Given the description of an element on the screen output the (x, y) to click on. 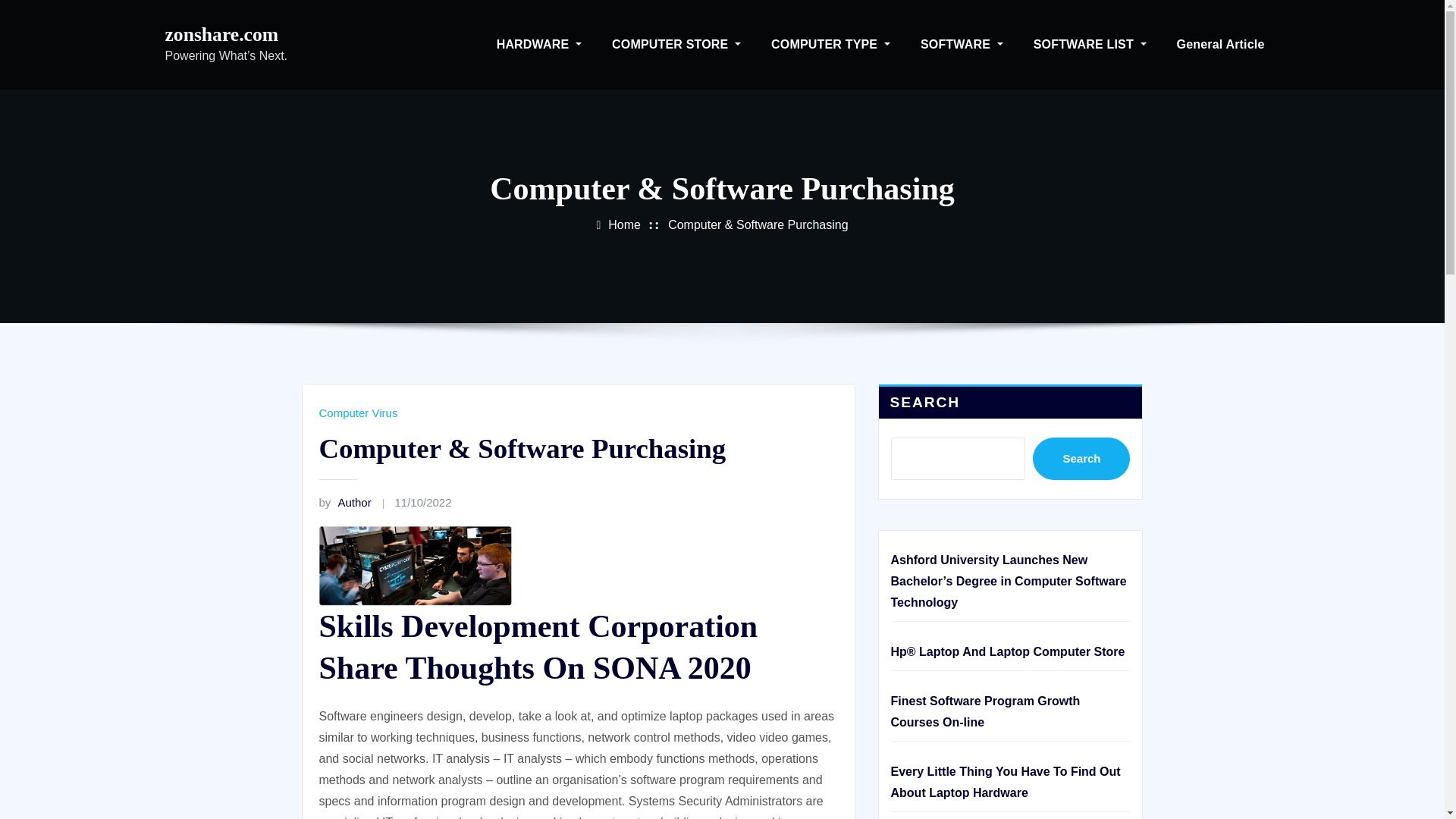
Home (624, 224)
zonshare.com (222, 34)
HARDWARE (538, 44)
Computer Virus (357, 412)
Search (1080, 458)
General Article (1220, 44)
SOFTWARE LIST (1089, 44)
by Author (344, 502)
COMPUTER TYPE (830, 44)
COMPUTER STORE (675, 44)
